Given the description of an element on the screen output the (x, y) to click on. 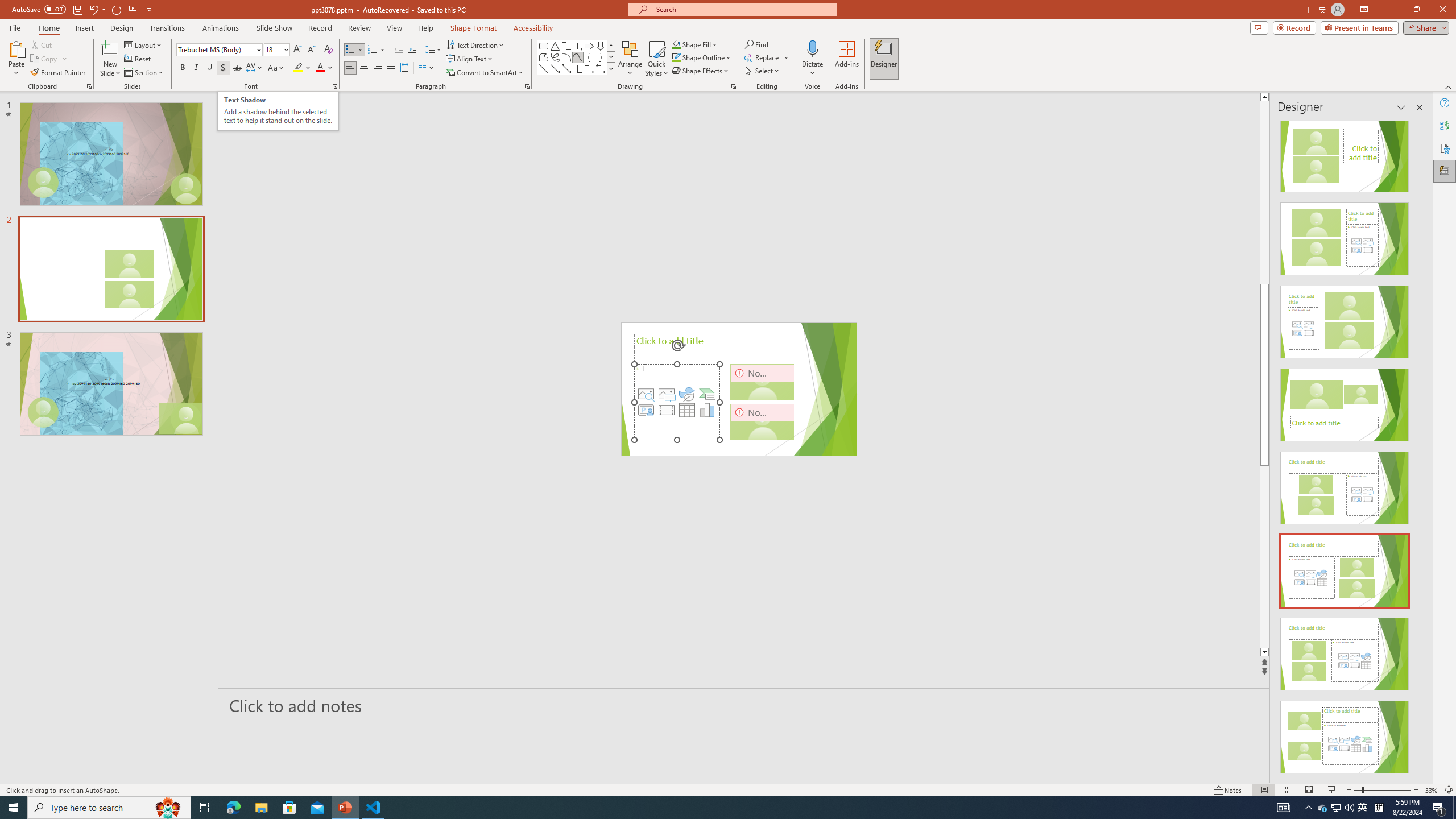
Line Arrow: Double (566, 68)
